Given the description of an element on the screen output the (x, y) to click on. 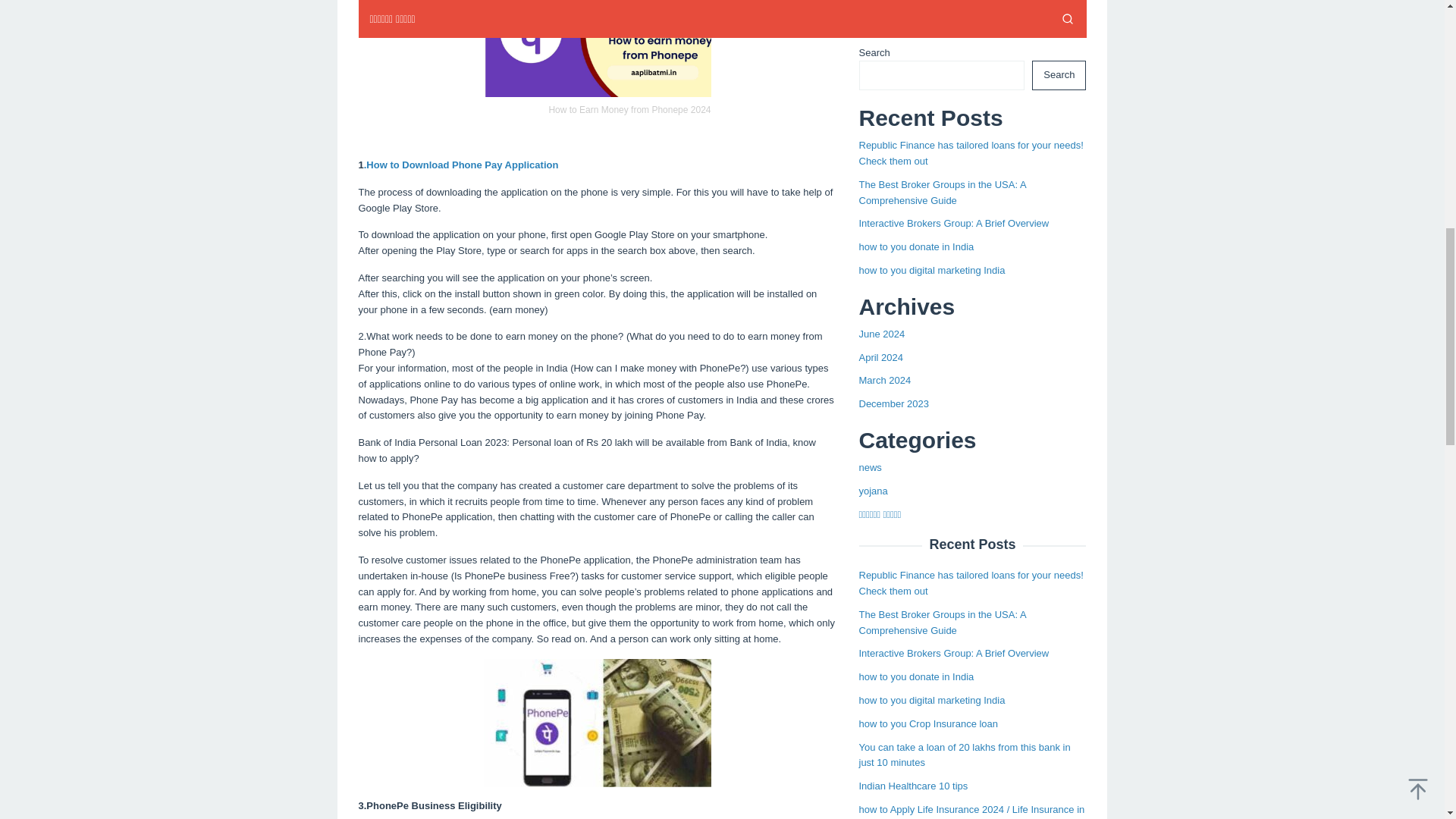
.How to Download Phone Pay Application (461, 164)
